Given the description of an element on the screen output the (x, y) to click on. 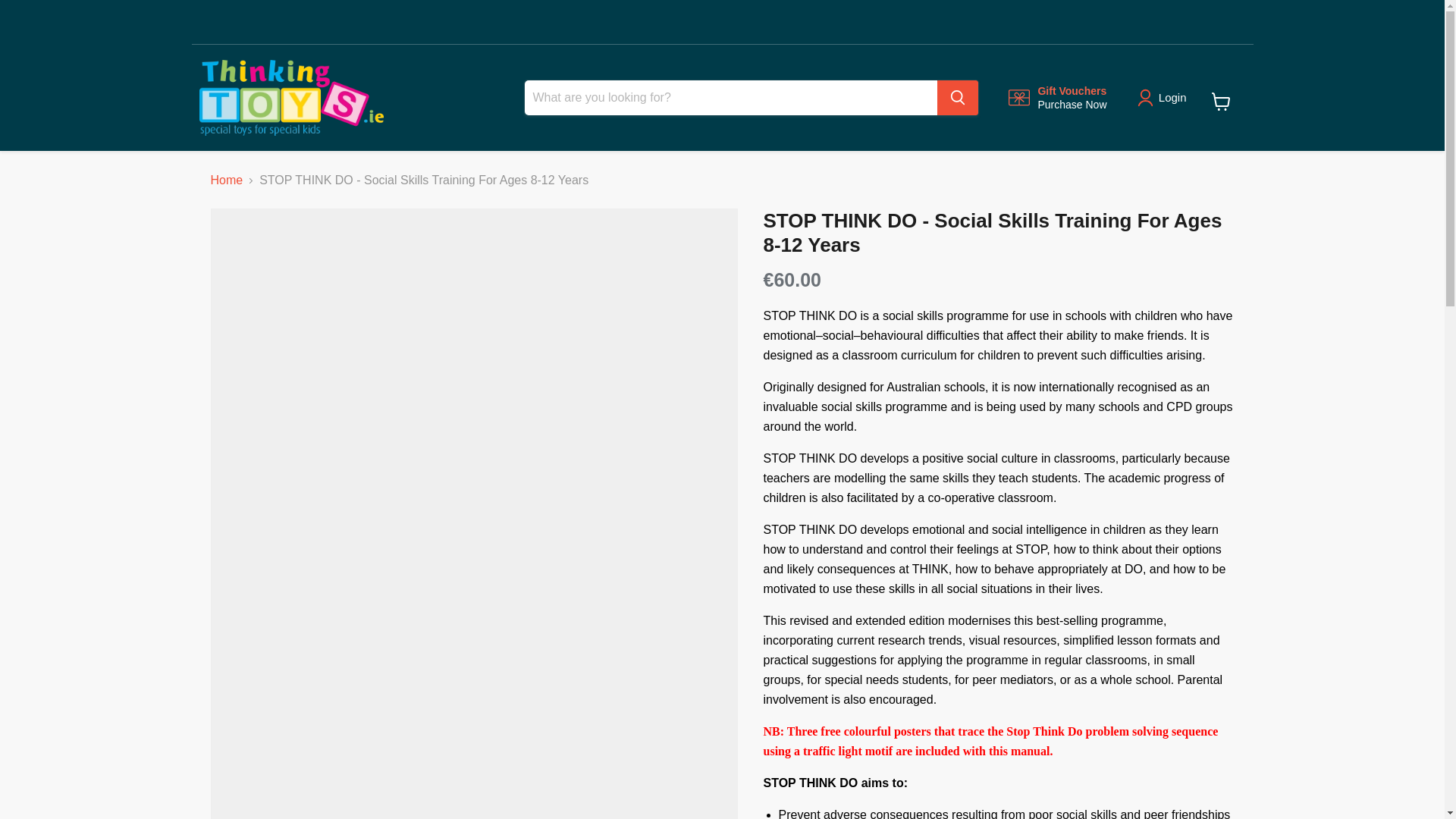
View cart (1221, 101)
Home (227, 180)
Login (1172, 97)
